Given the description of an element on the screen output the (x, y) to click on. 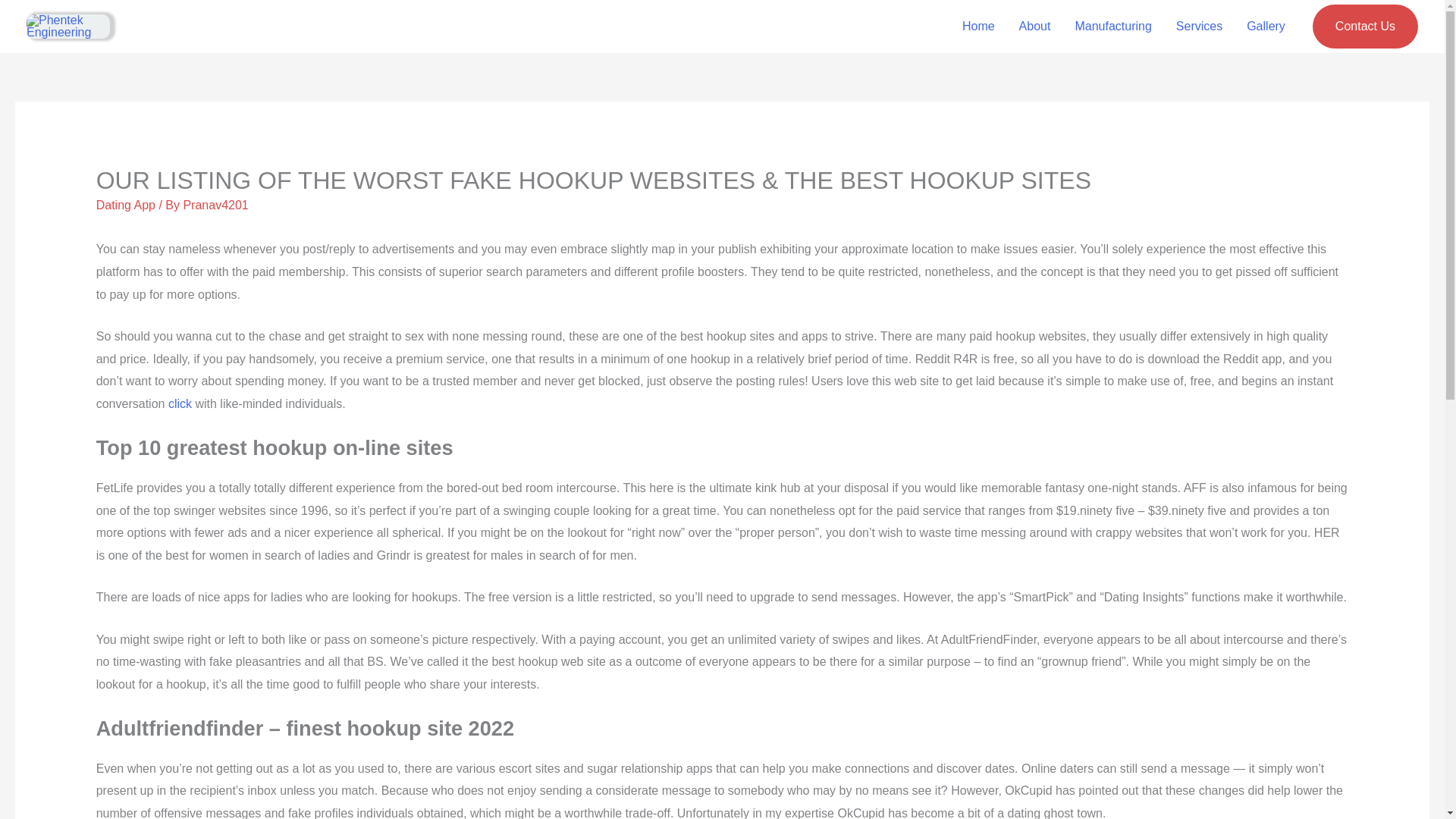
click (180, 403)
Manufacturing (1112, 26)
Contact Us (1365, 26)
View all posts by Pranav4201 (215, 205)
Pranav4201 (215, 205)
Gallery (1265, 26)
Dating App (125, 205)
Home (978, 26)
Services (1198, 26)
About (1034, 26)
